Given the description of an element on the screen output the (x, y) to click on. 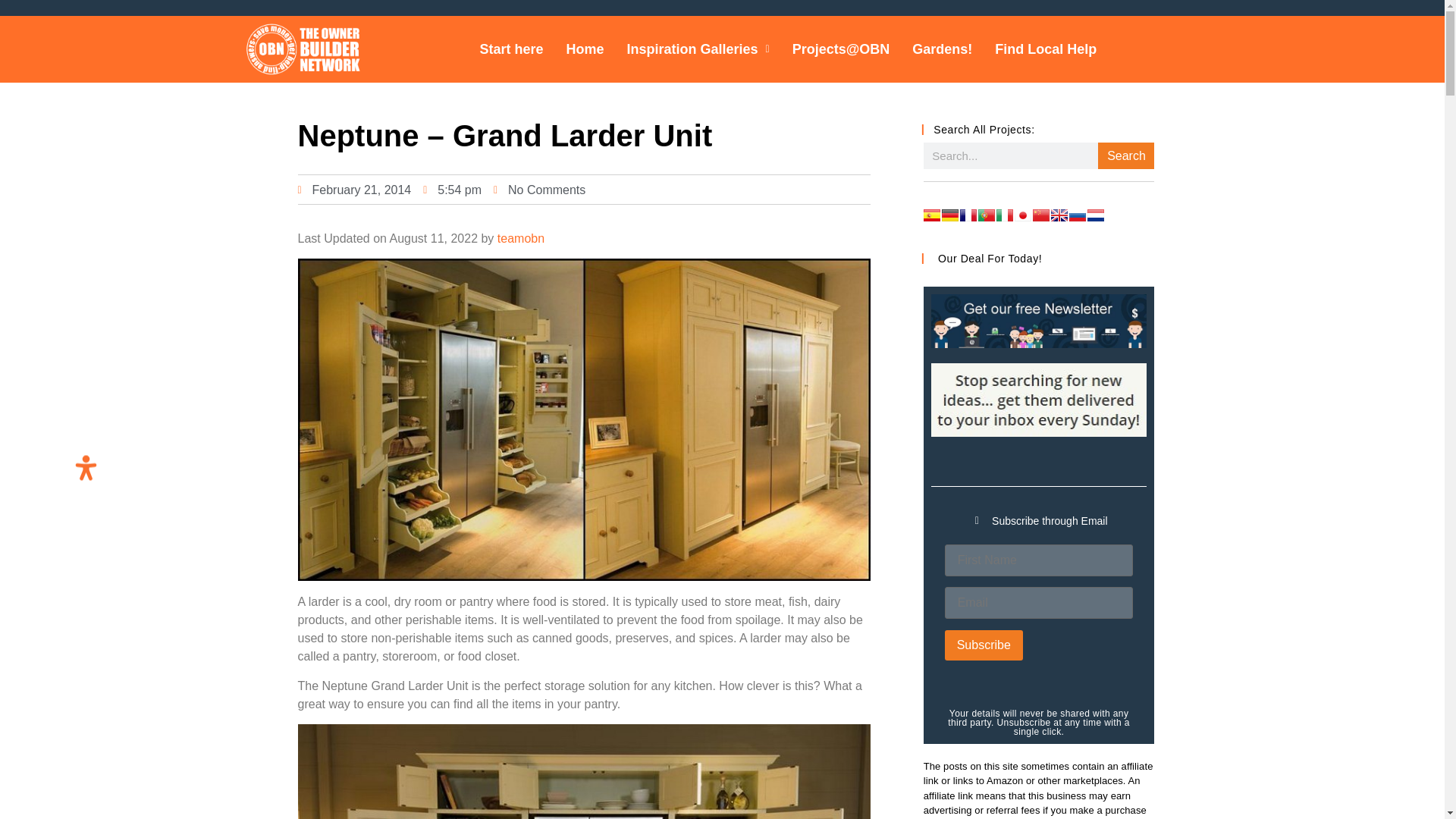
Japanese (1022, 215)
English (1059, 215)
Gardens! (942, 49)
Portuguese (986, 215)
Find Local Help (1046, 49)
French (967, 215)
No Comments (539, 189)
Start here (510, 49)
Spanish (931, 215)
February 21, 2014 (353, 189)
teamobn (520, 237)
Home (584, 49)
Inspiration Galleries (697, 49)
Italian (1004, 215)
Russian (1077, 215)
